Given the description of an element on the screen output the (x, y) to click on. 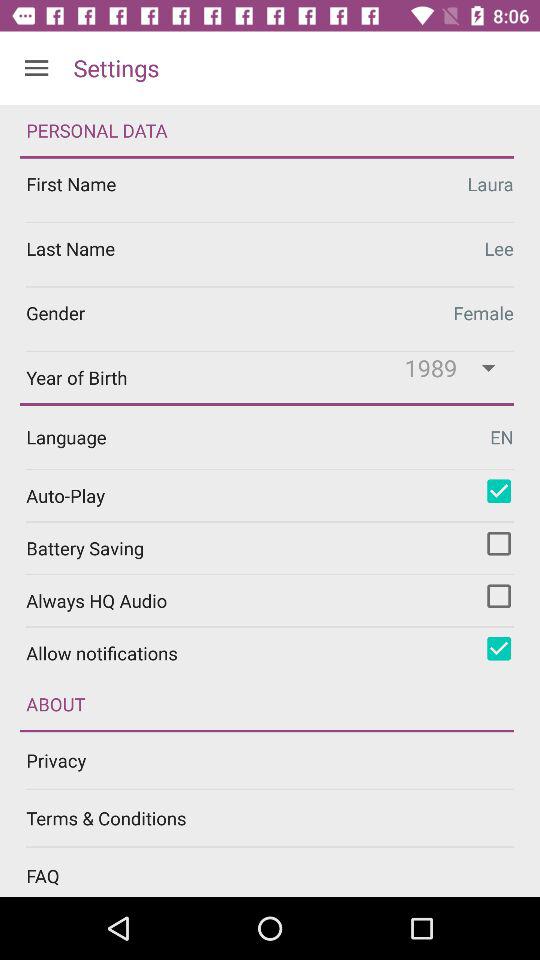
start battery saving (499, 543)
